Given the description of an element on the screen output the (x, y) to click on. 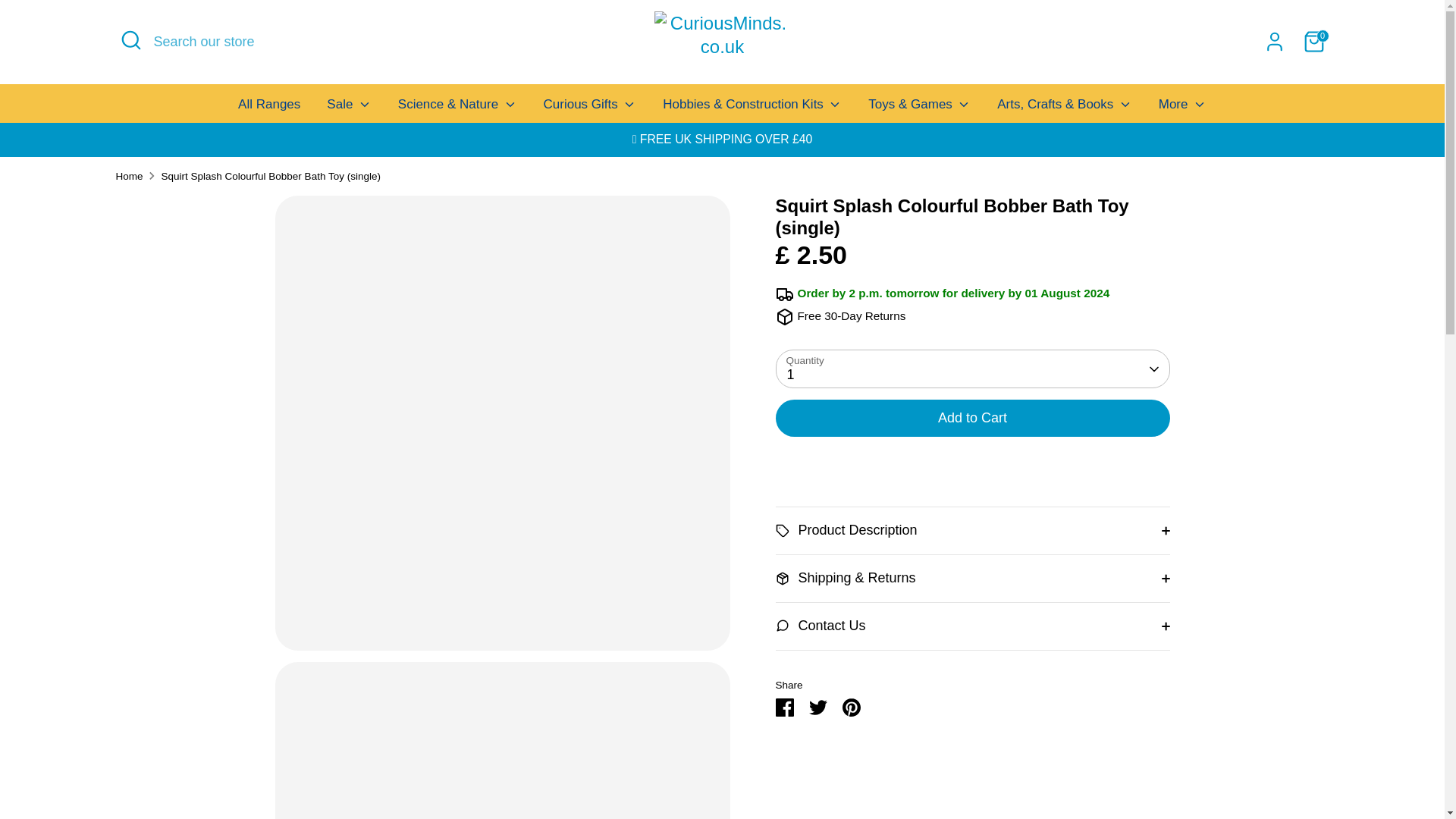
0 (1312, 41)
